Given the description of an element on the screen output the (x, y) to click on. 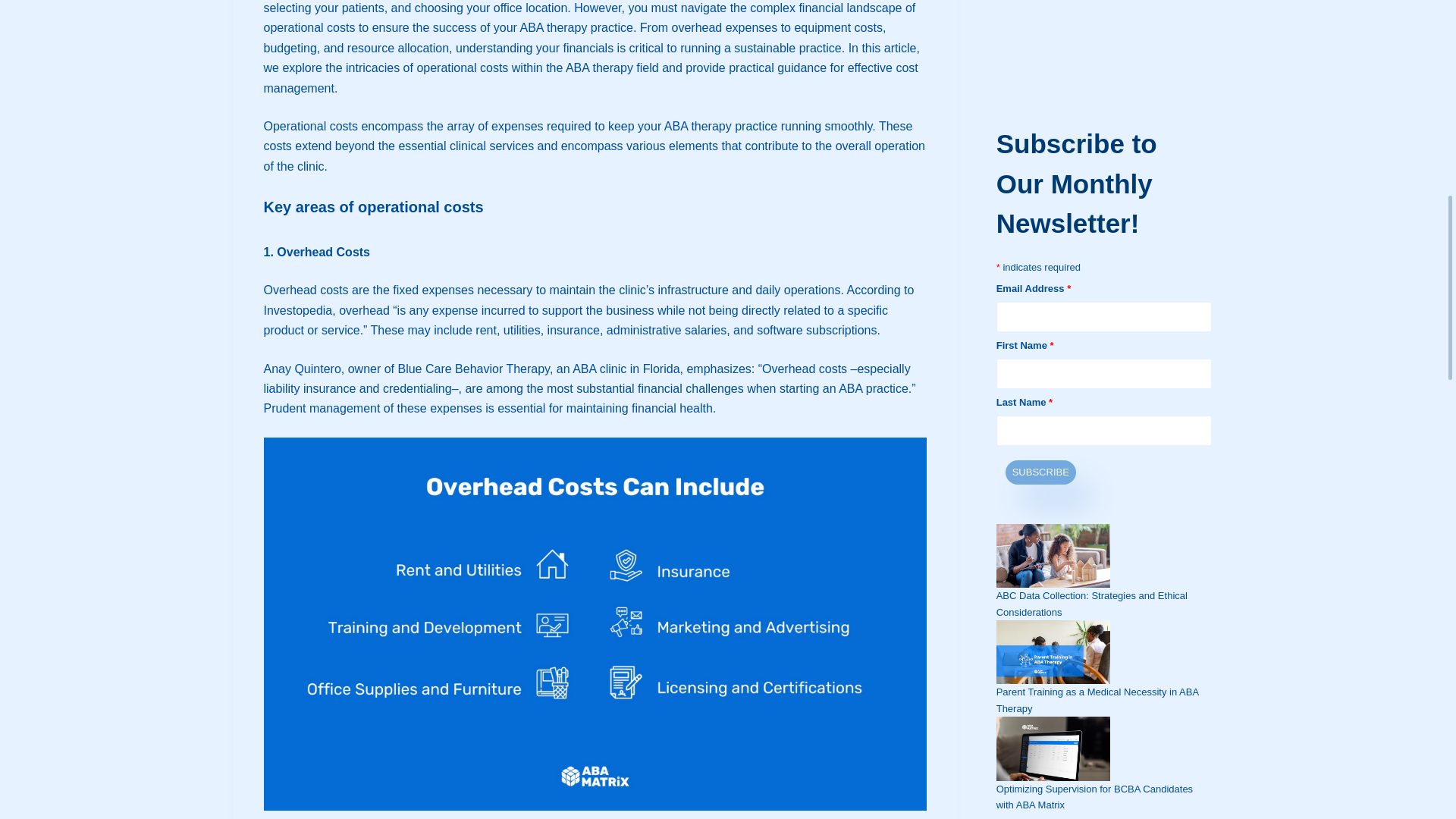
Parent Training as a Medical Necessity in ABA Therapy (1096, 51)
Optimizing Supervision for BCBA Candidates with ABA Matrix (1093, 148)
ABA Clinic Owners (1036, 228)
